Given the description of an element on the screen output the (x, y) to click on. 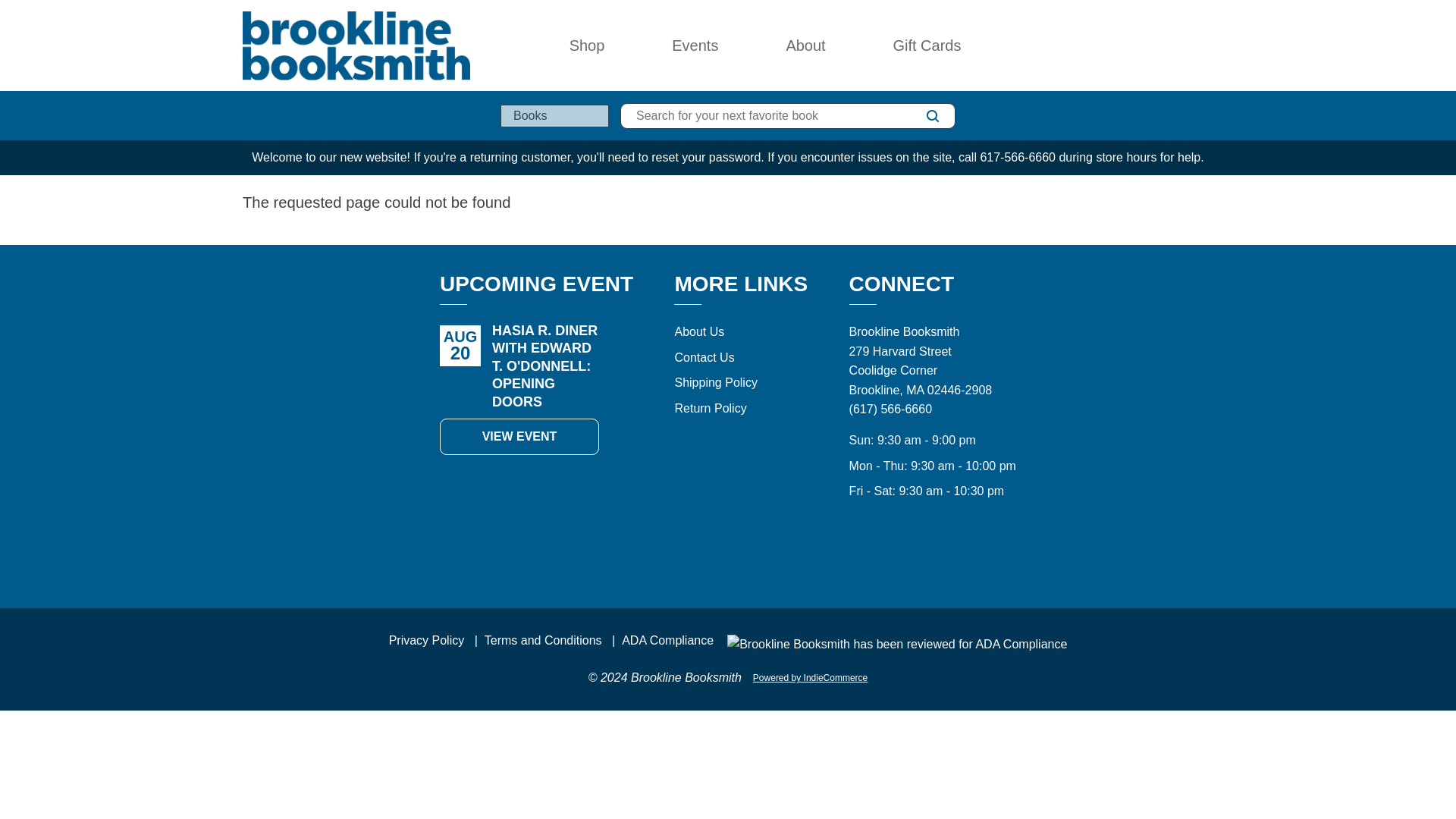
SEARCH (932, 116)
Wishlist (1172, 45)
Log in (1139, 45)
Shipping Policy (715, 382)
Privacy Policy (426, 640)
About Us (698, 331)
Return Policy (709, 408)
Connect with Youtube Channel (965, 555)
Connect with Facebook (932, 555)
